Given the description of an element on the screen output the (x, y) to click on. 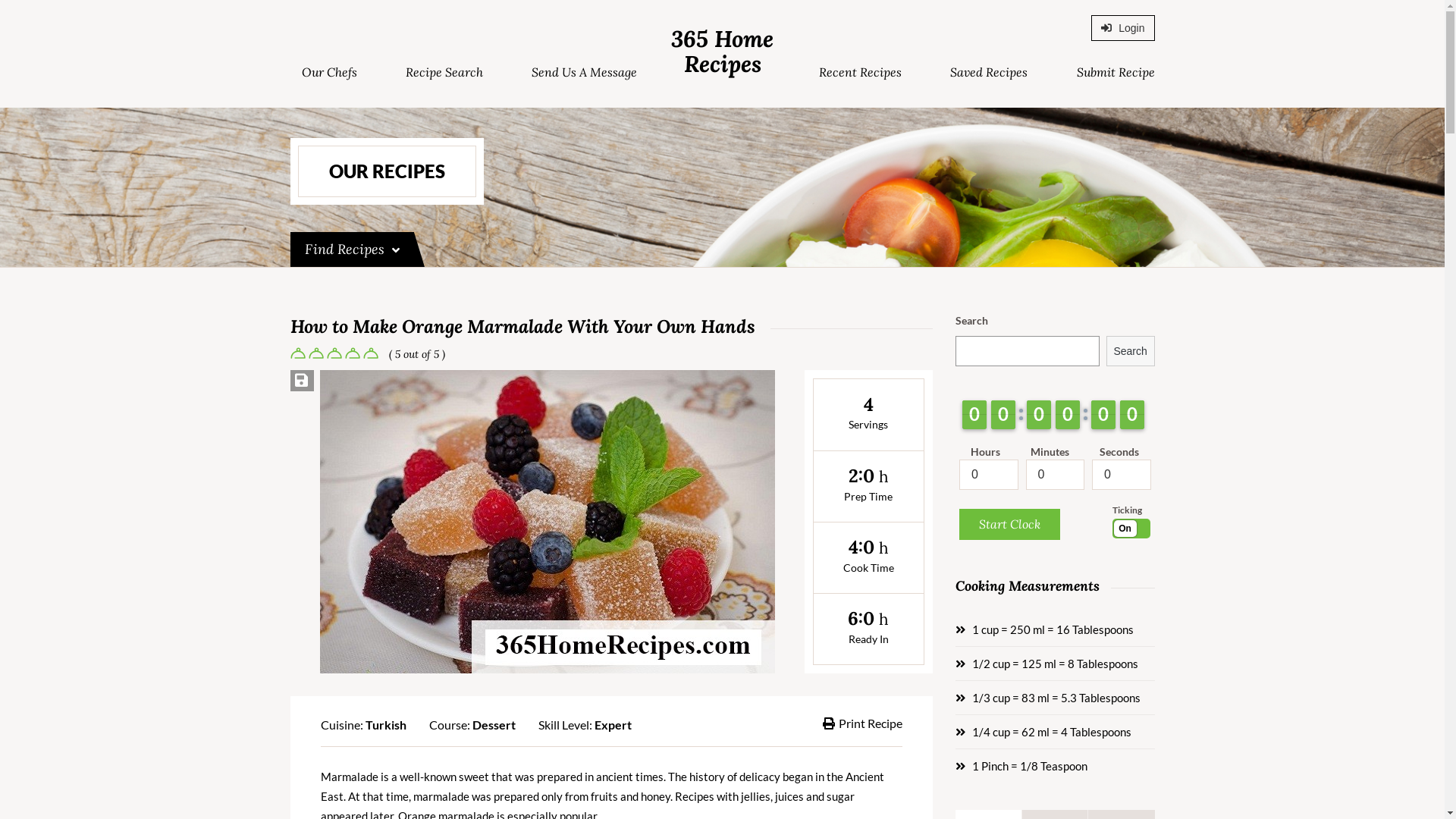
Saved Recipes Element type: text (988, 72)
Dessert Element type: text (492, 724)
Our Chefs Element type: text (329, 72)
9
9 Element type: text (1132, 414)
Turkish Element type: text (385, 724)
Login Element type: text (1122, 27)
9
9 Element type: text (1003, 414)
9
9 Element type: text (1103, 414)
Send Us A Message Element type: text (584, 72)
9
9 Element type: text (1067, 414)
9
9 Element type: text (1038, 414)
Start Clock Element type: text (1009, 523)
Submit Recipe Element type: text (1115, 72)
Expert Element type: text (612, 724)
365 Home Recipes Element type: text (721, 51)
Print Recipe Element type: text (862, 723)
9
9 Element type: text (974, 414)
Recipe Search Element type: text (444, 72)
Recent Recipes Element type: text (860, 72)
Search Element type: text (1130, 350)
